Given the description of an element on the screen output the (x, y) to click on. 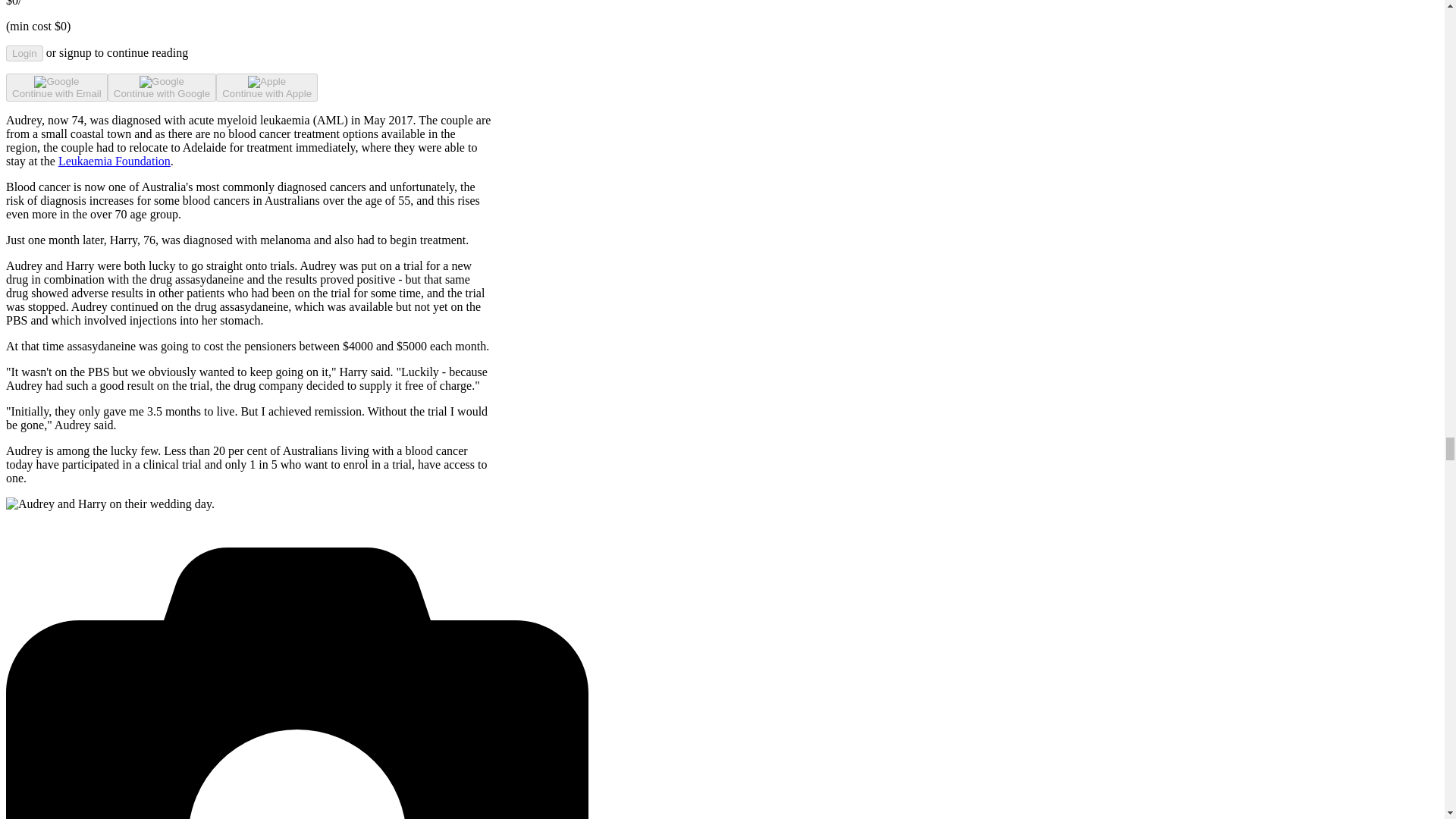
Audrey and Harry on their wedding day. (109, 504)
